Given the description of an element on the screen output the (x, y) to click on. 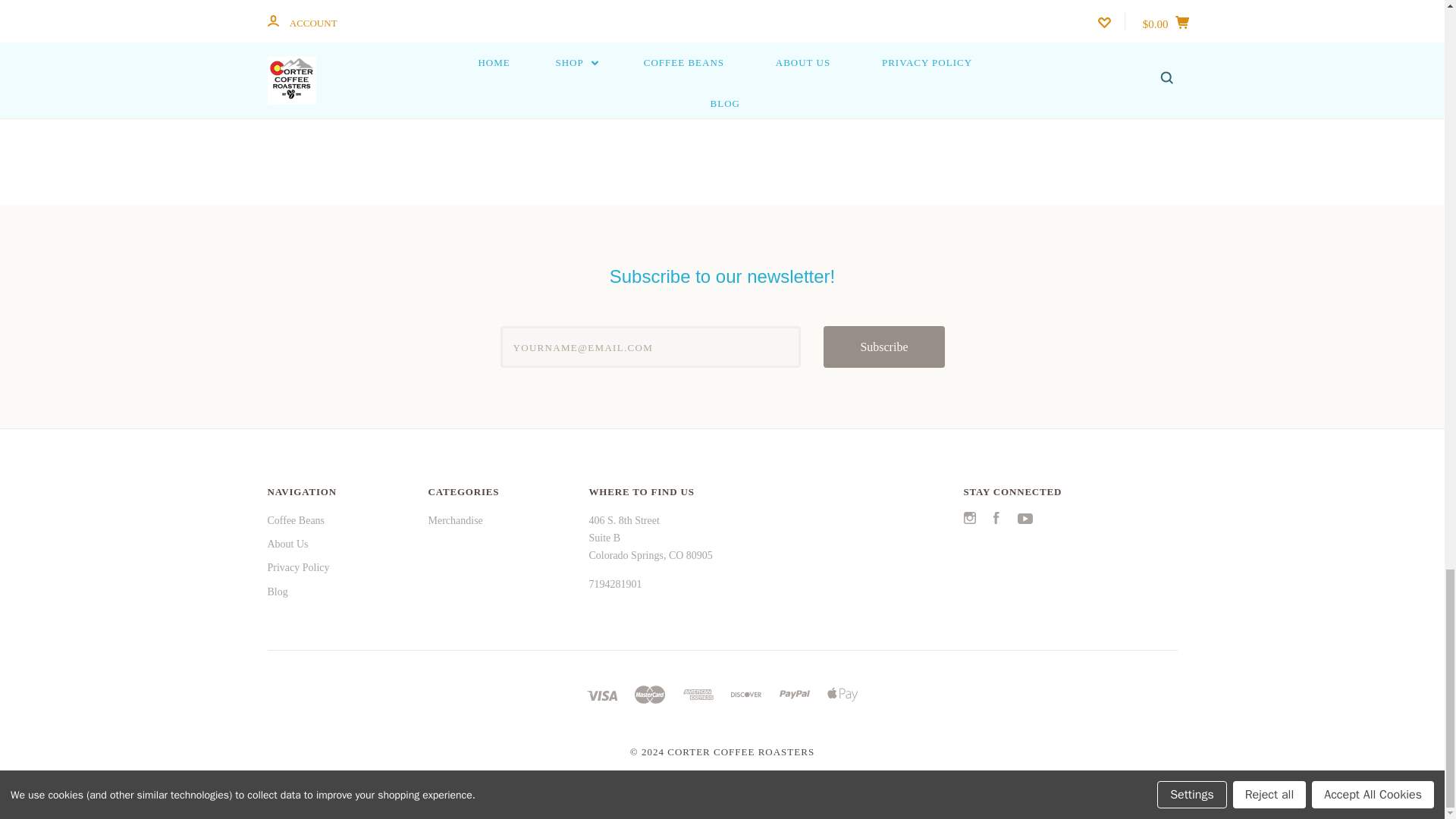
email (691, 78)
instagram (968, 517)
Blog (276, 591)
Instagram (968, 520)
Know Coffee (719, 7)
Merchandise (454, 520)
Coffee Beans (295, 520)
Privacy Policy (297, 567)
Subscribe (883, 346)
youtube (1024, 518)
email (691, 77)
pinterest (763, 79)
twitter (968, 520)
